Given the description of an element on the screen output the (x, y) to click on. 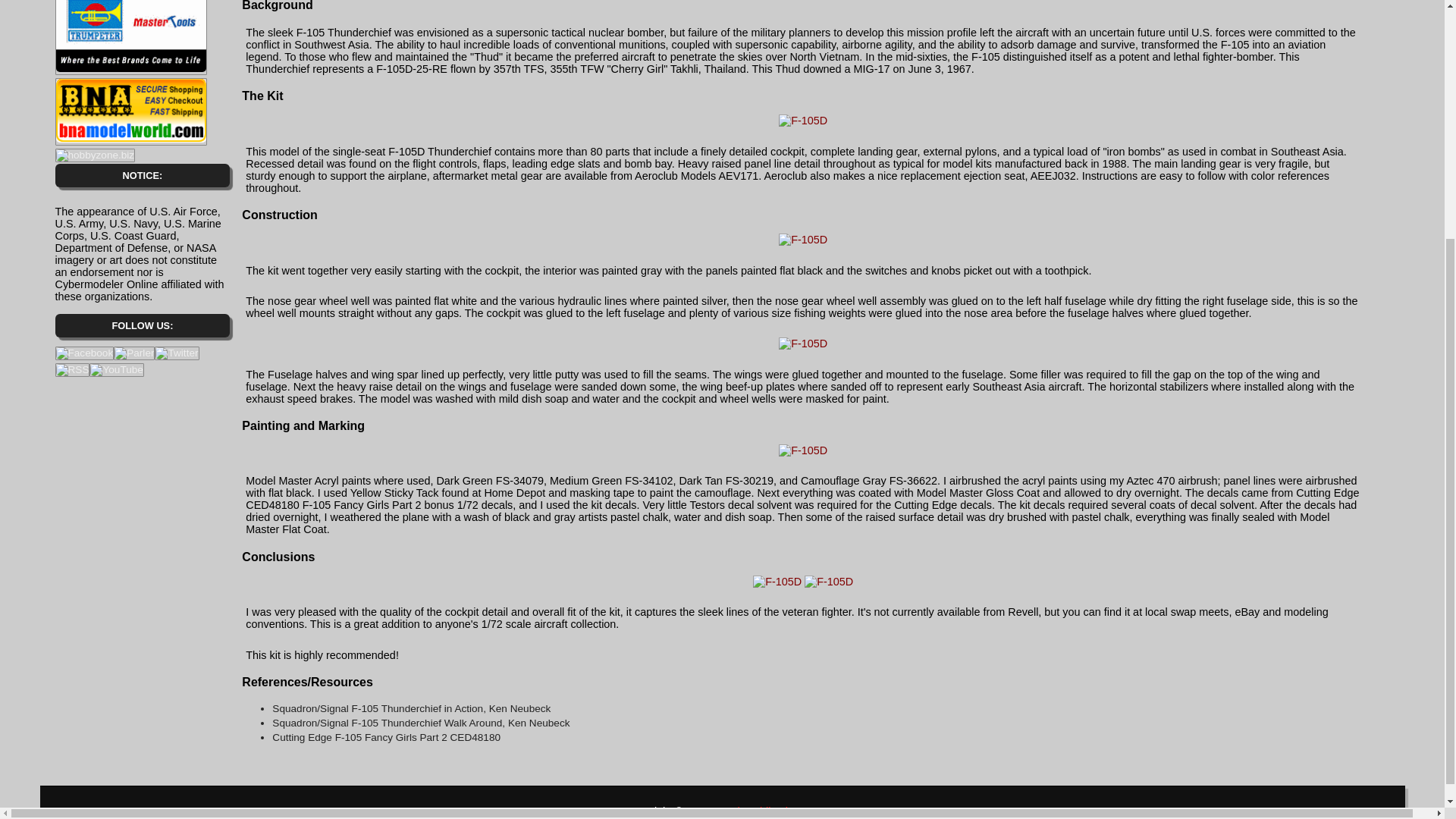
TacAir Publications, LLC. (773, 811)
